Given the description of an element on the screen output the (x, y) to click on. 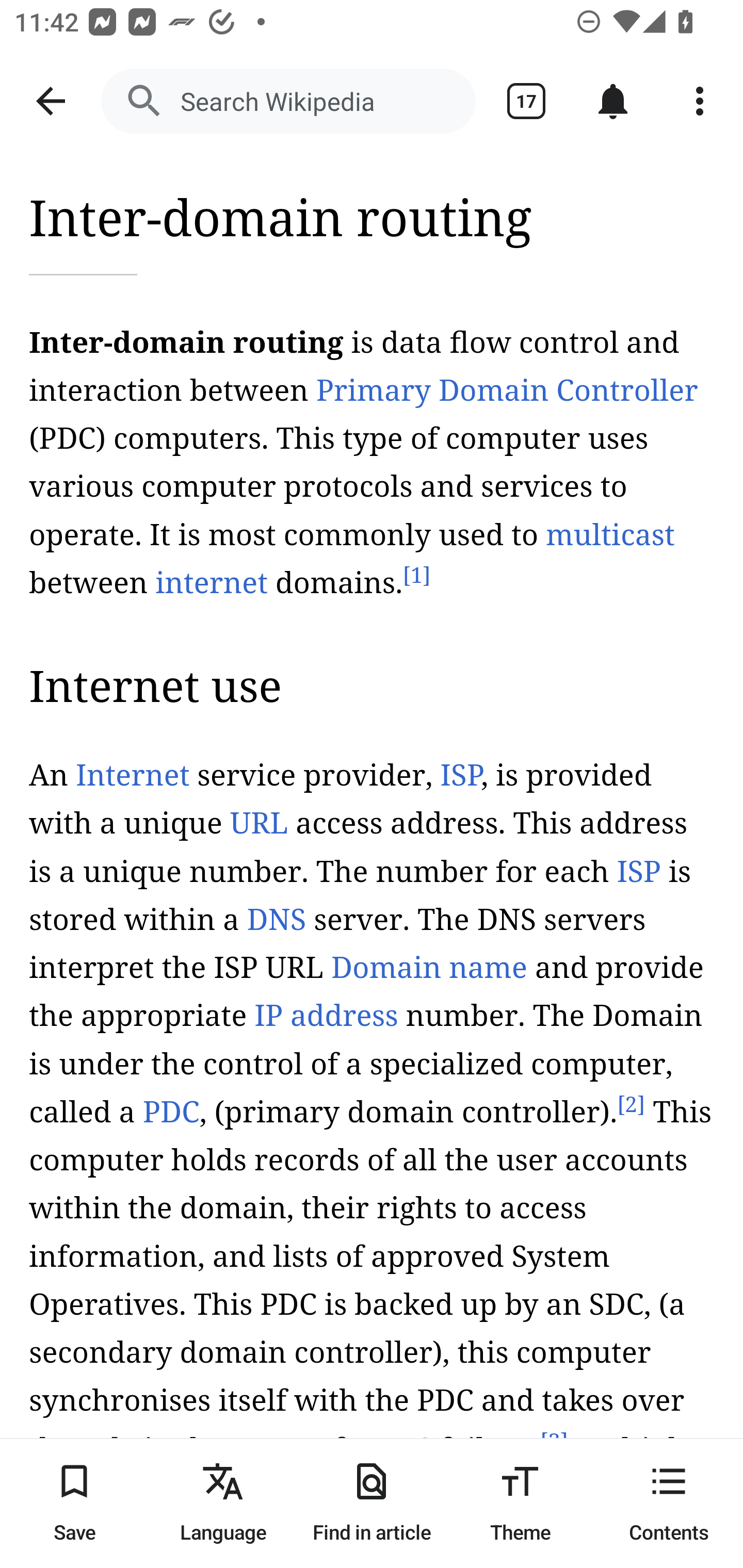
Show tabs 17 (525, 100)
Notifications (612, 100)
Navigate up (50, 101)
More options (699, 101)
Search Wikipedia (288, 100)
# (329, 277)
Primary Domain Controller (506, 390)
multicast (610, 533)
[] [ 1 ] (416, 575)
internet (211, 582)
Internet (132, 776)
ISP (460, 776)
URL (258, 823)
ISP (638, 870)
DNS (275, 921)
Domain name (428, 968)
IP address (325, 1016)
[] [ 2 ] (630, 1105)
PDC (170, 1112)
Save (74, 1502)
Language (222, 1502)
Find in article (371, 1502)
Theme (519, 1502)
Contents (668, 1502)
